Given the description of an element on the screen output the (x, y) to click on. 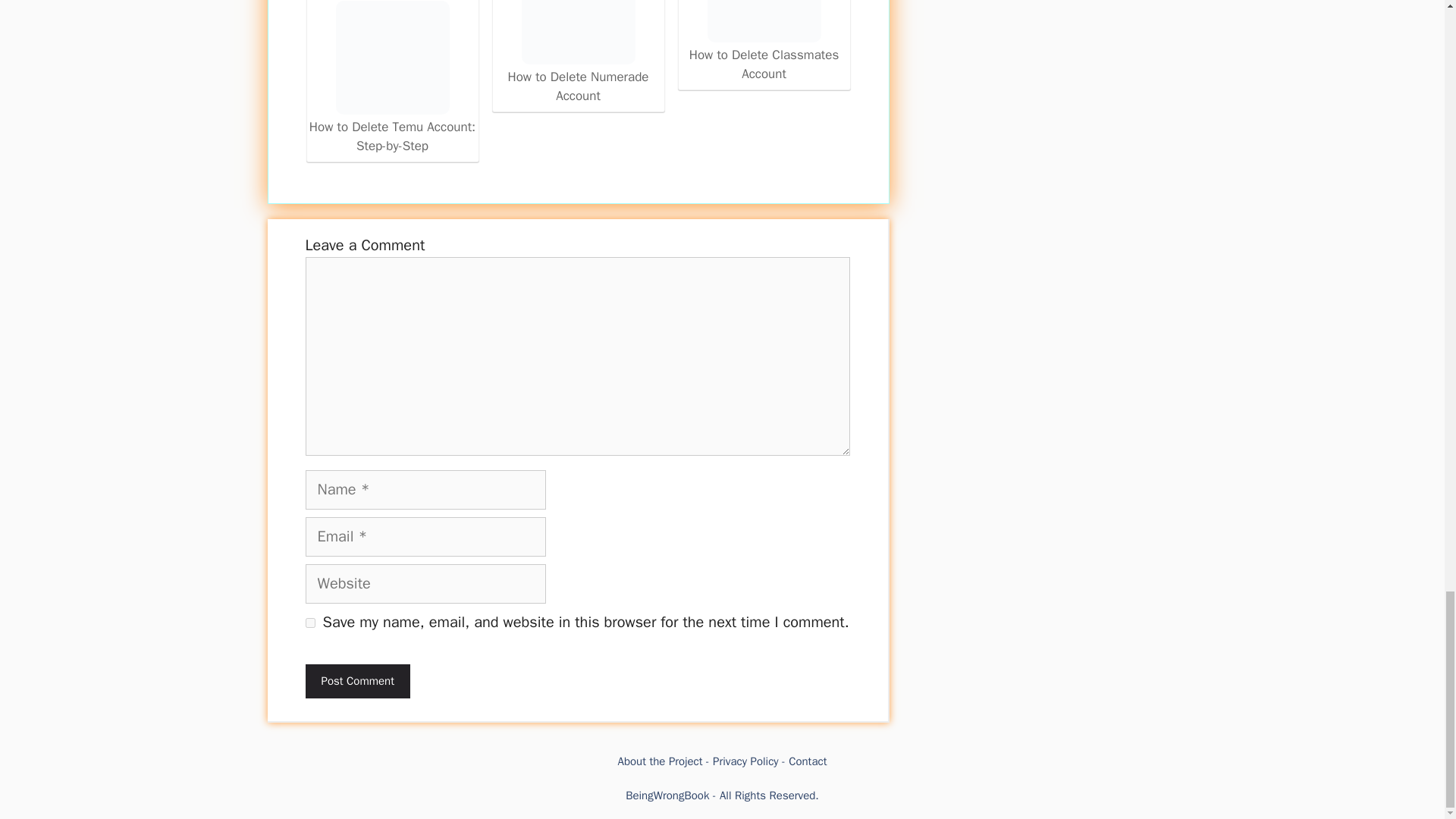
How to Delete Numerade Account (577, 32)
How to Delete Classmates Account (764, 42)
How to Delete Temu Account: Step-by-Step (392, 78)
How to Delete Numerade Account (578, 53)
yes (309, 623)
How to Delete Temu Account: Step-by-Step (391, 57)
Post Comment (356, 681)
Post Comment (356, 681)
